Given the description of an element on the screen output the (x, y) to click on. 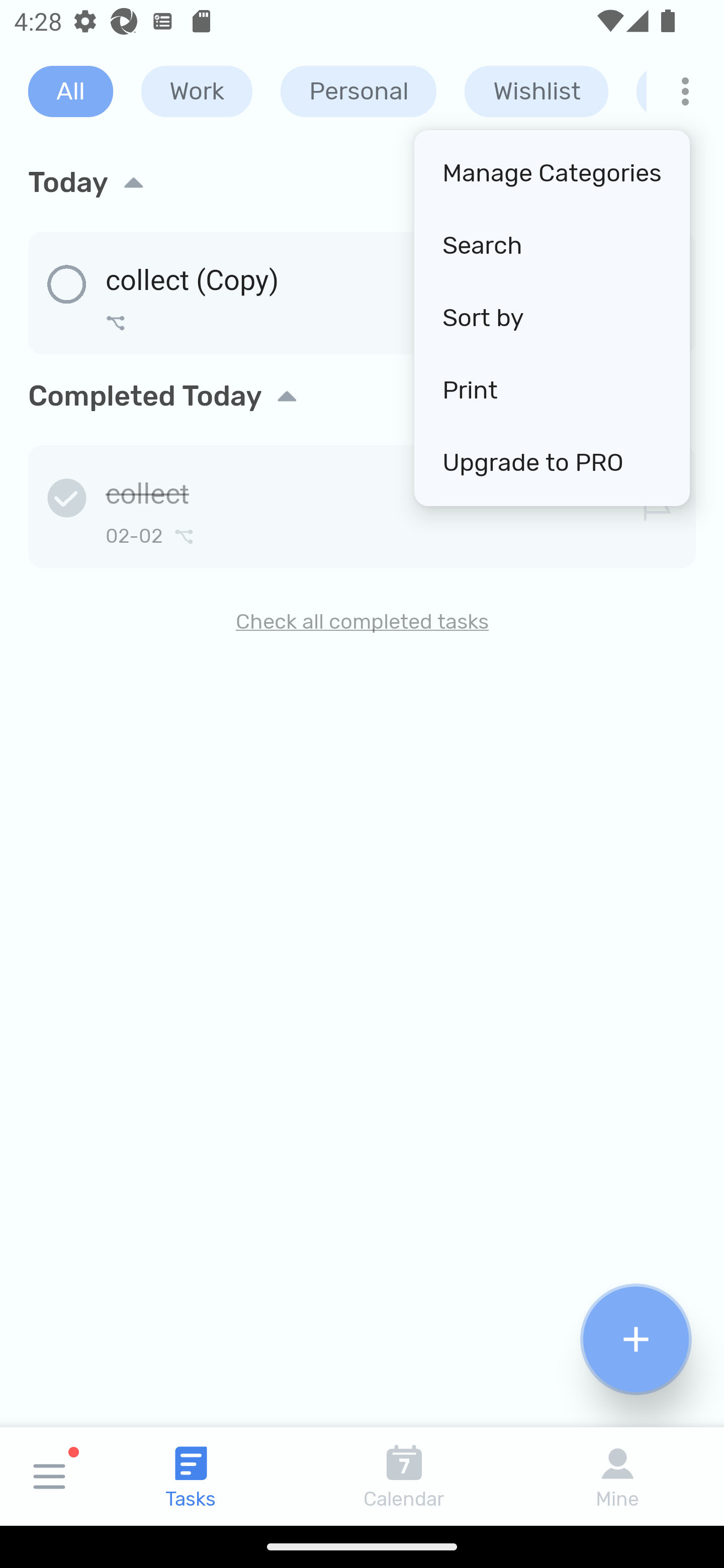
Manage Categories (551, 173)
Search (551, 246)
Sort by (551, 318)
Print (551, 390)
Upgrade to PRO (551, 462)
